Given the description of an element on the screen output the (x, y) to click on. 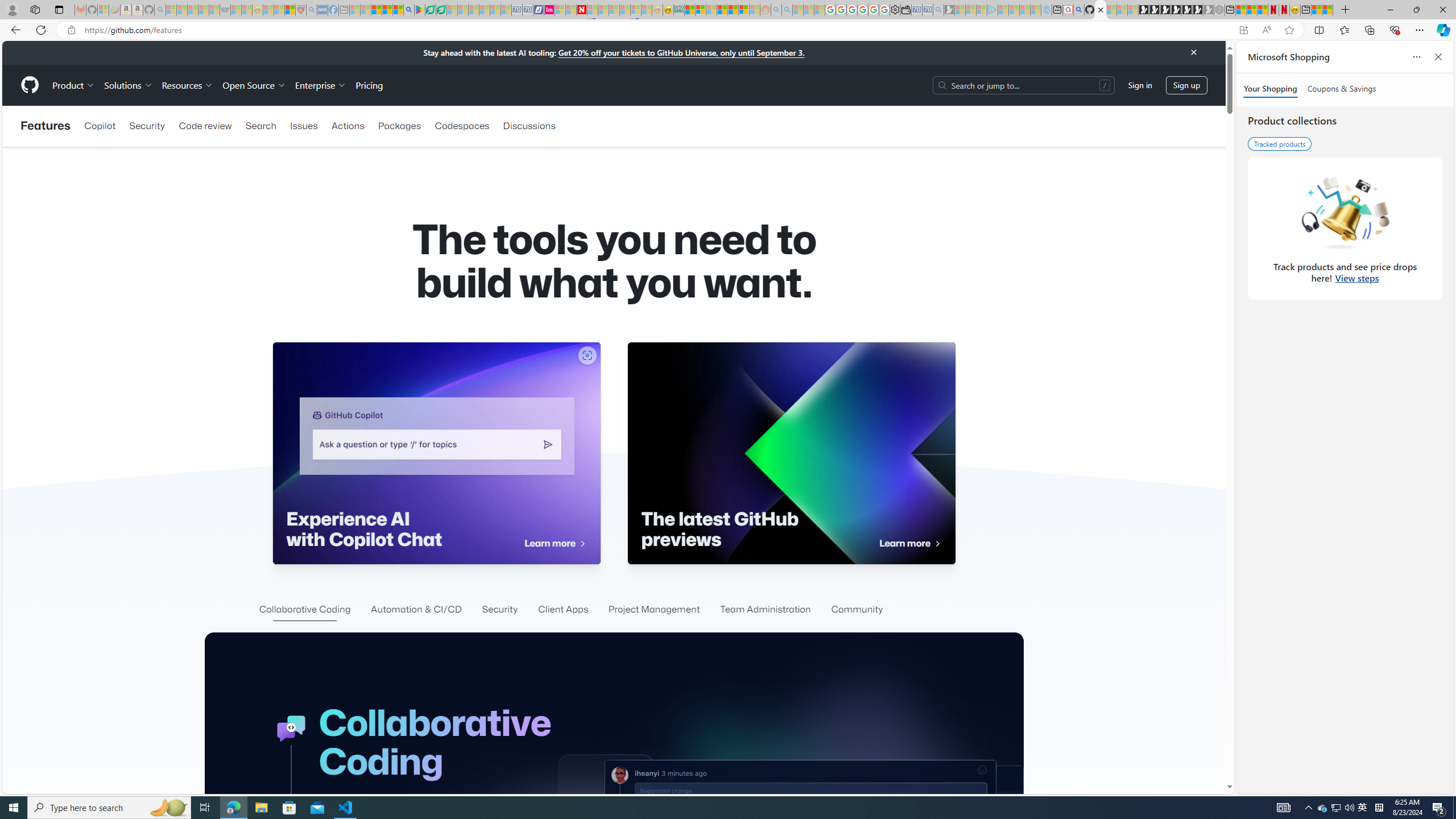
Microsoft Word - consumer-privacy address update 2.2021 (440, 9)
Pricing (368, 84)
github - Search (1078, 9)
Codespaces (461, 125)
Automation & CI/CD (416, 609)
